Given the description of an element on the screen output the (x, y) to click on. 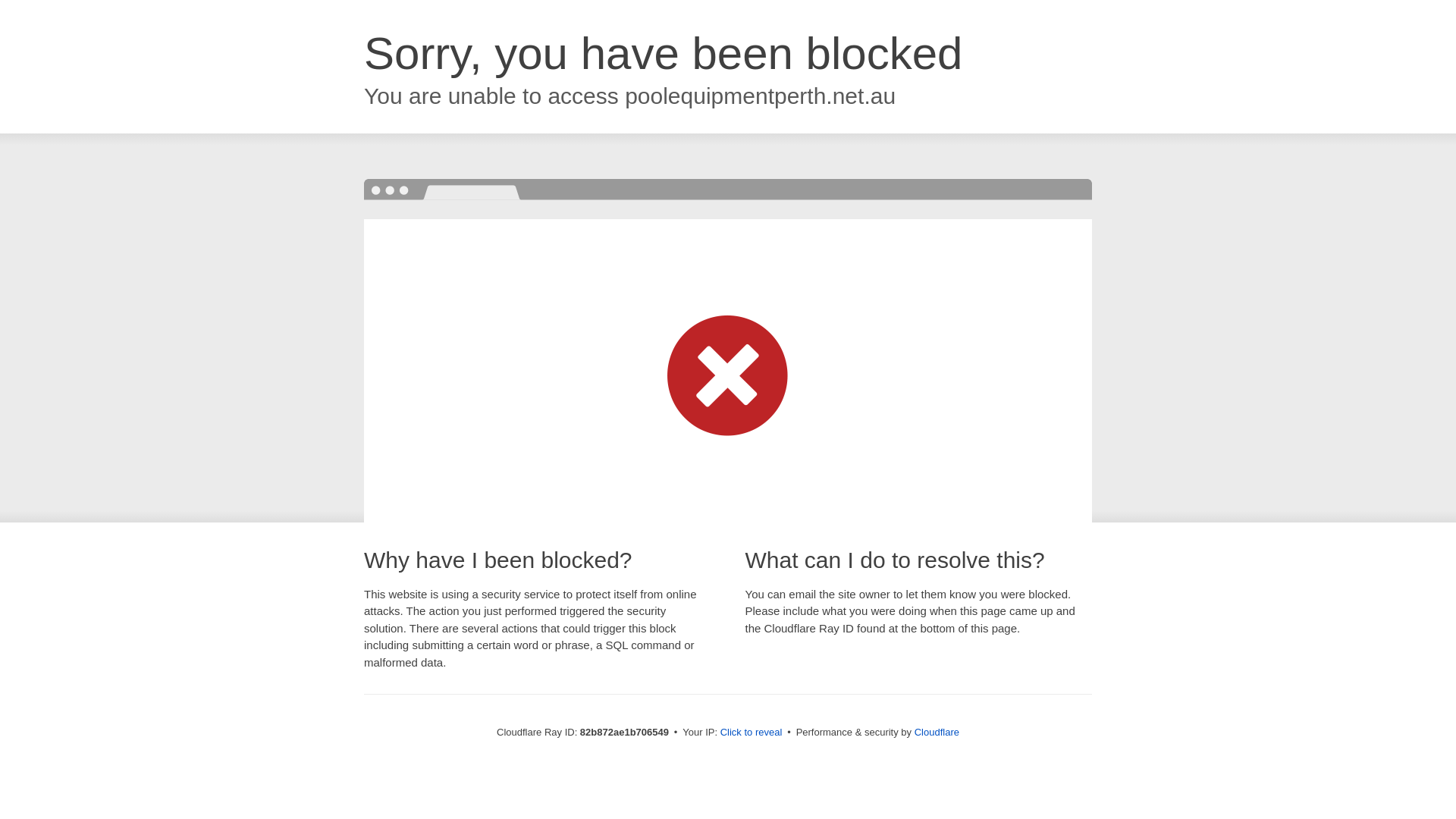
Cloudflare Element type: text (936, 731)
Click to reveal Element type: text (751, 732)
